Given the description of an element on the screen output the (x, y) to click on. 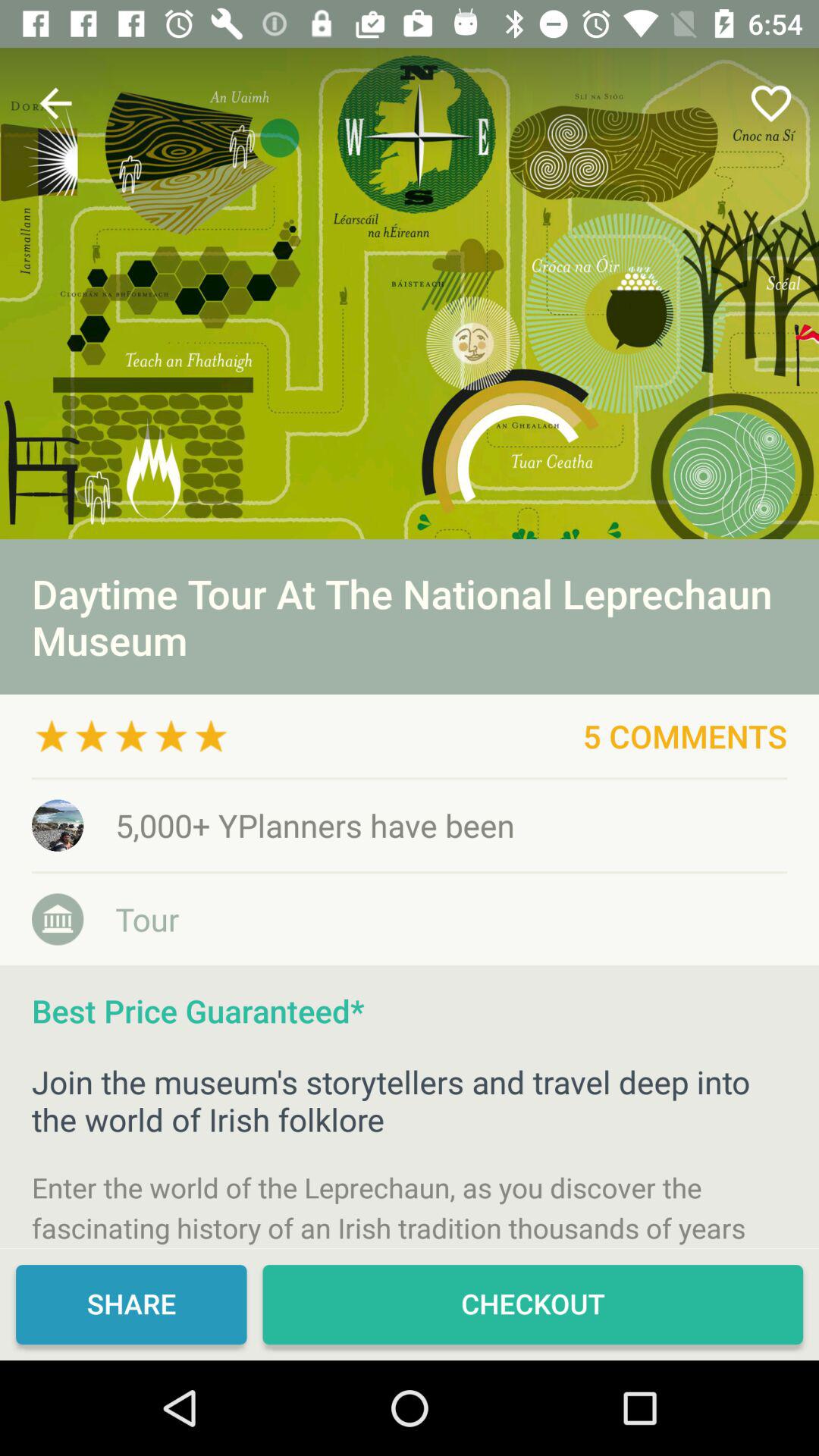
launch the icon above daytime tour at item (55, 103)
